Given the description of an element on the screen output the (x, y) to click on. 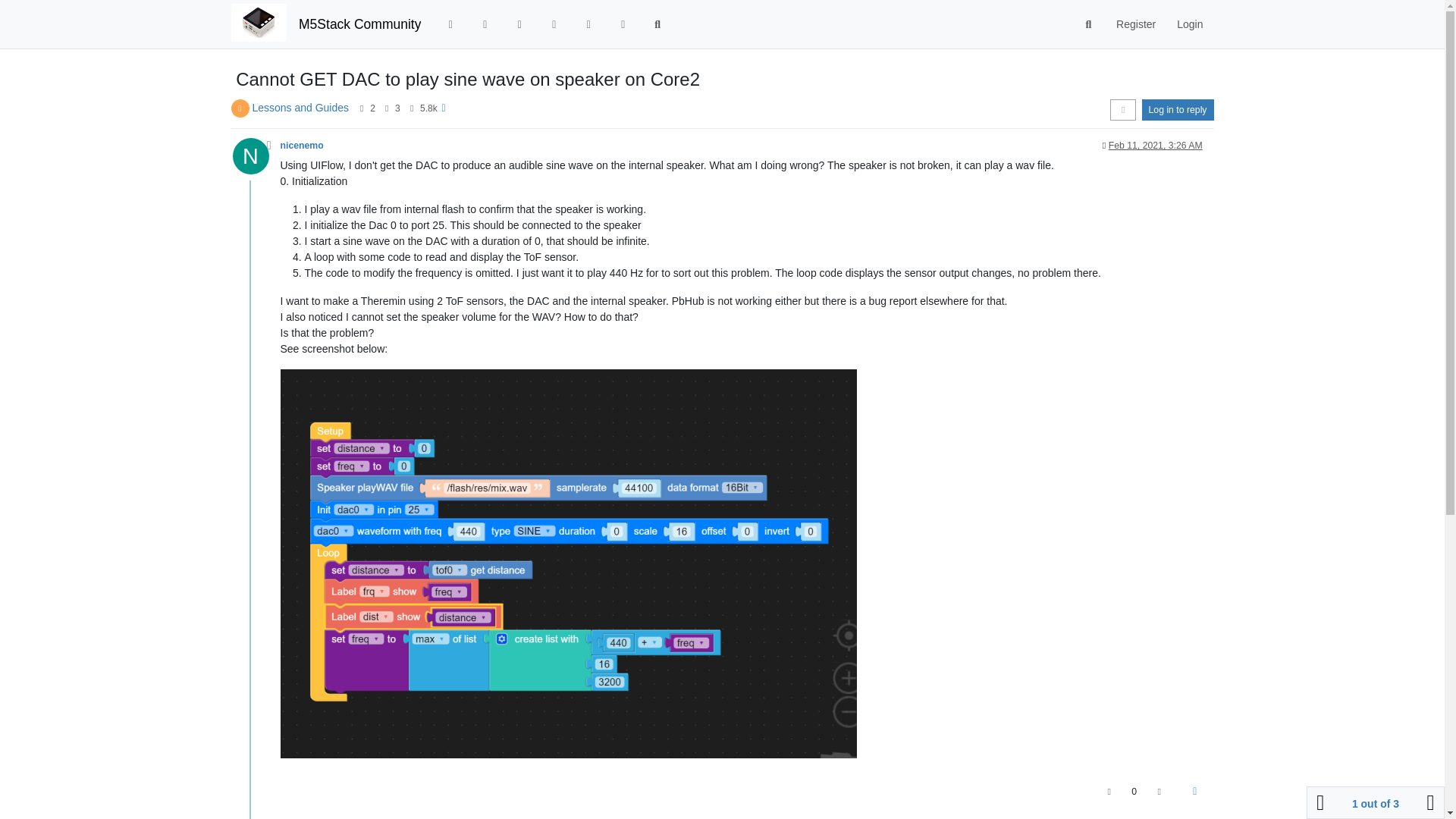
Log in to reply (1177, 109)
Tags (519, 24)
nicenemo (302, 145)
Groups (622, 24)
Search (657, 24)
Recent (484, 24)
Search (1088, 24)
Categories (449, 24)
Register (1135, 24)
Lessons and Guides (300, 107)
N (255, 159)
Login (1189, 24)
Popular (554, 24)
Users (587, 24)
M5Stack Community (359, 24)
